Given the description of an element on the screen output the (x, y) to click on. 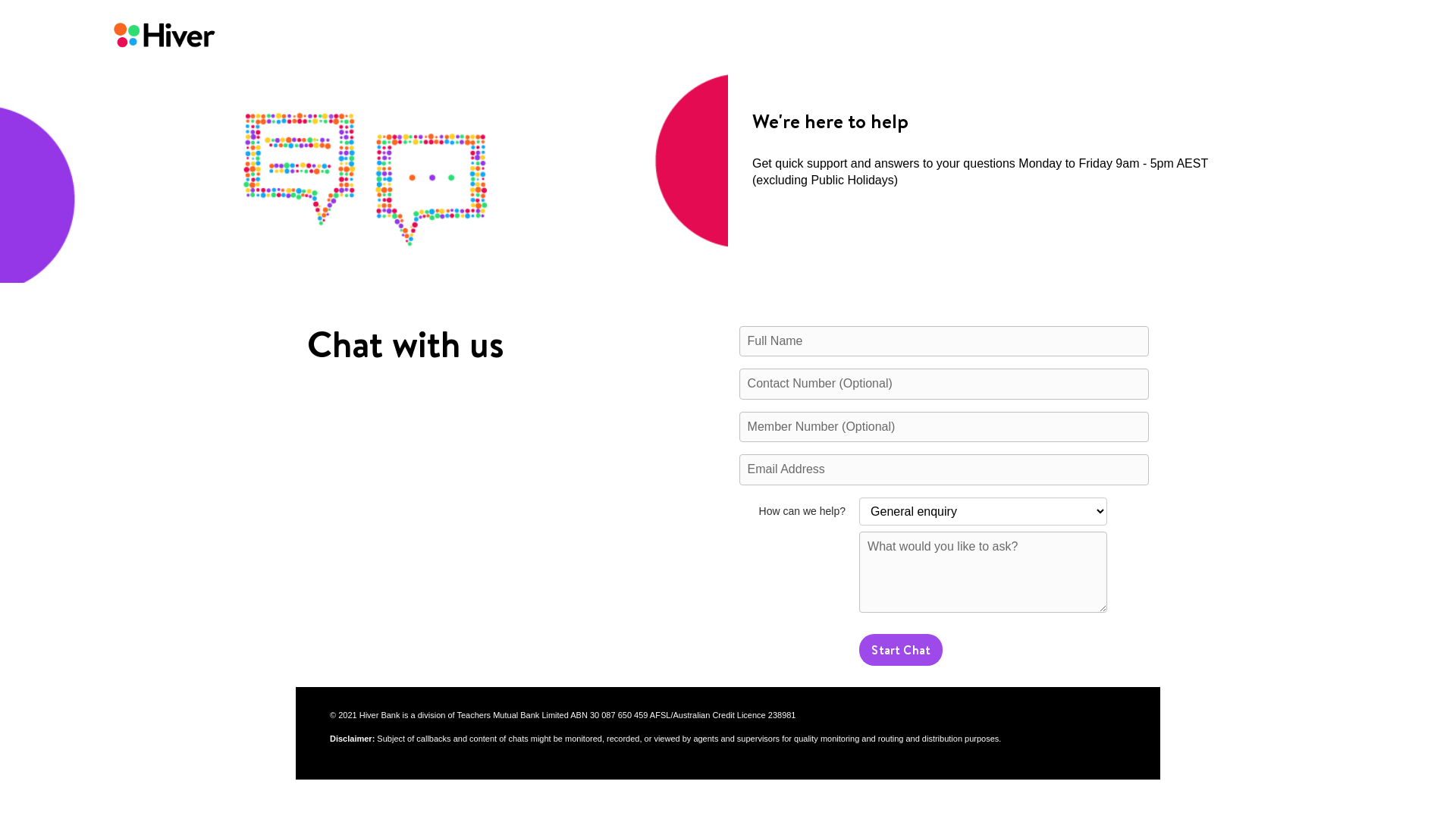
Start Chat Element type: text (900, 649)
